Given the description of an element on the screen output the (x, y) to click on. 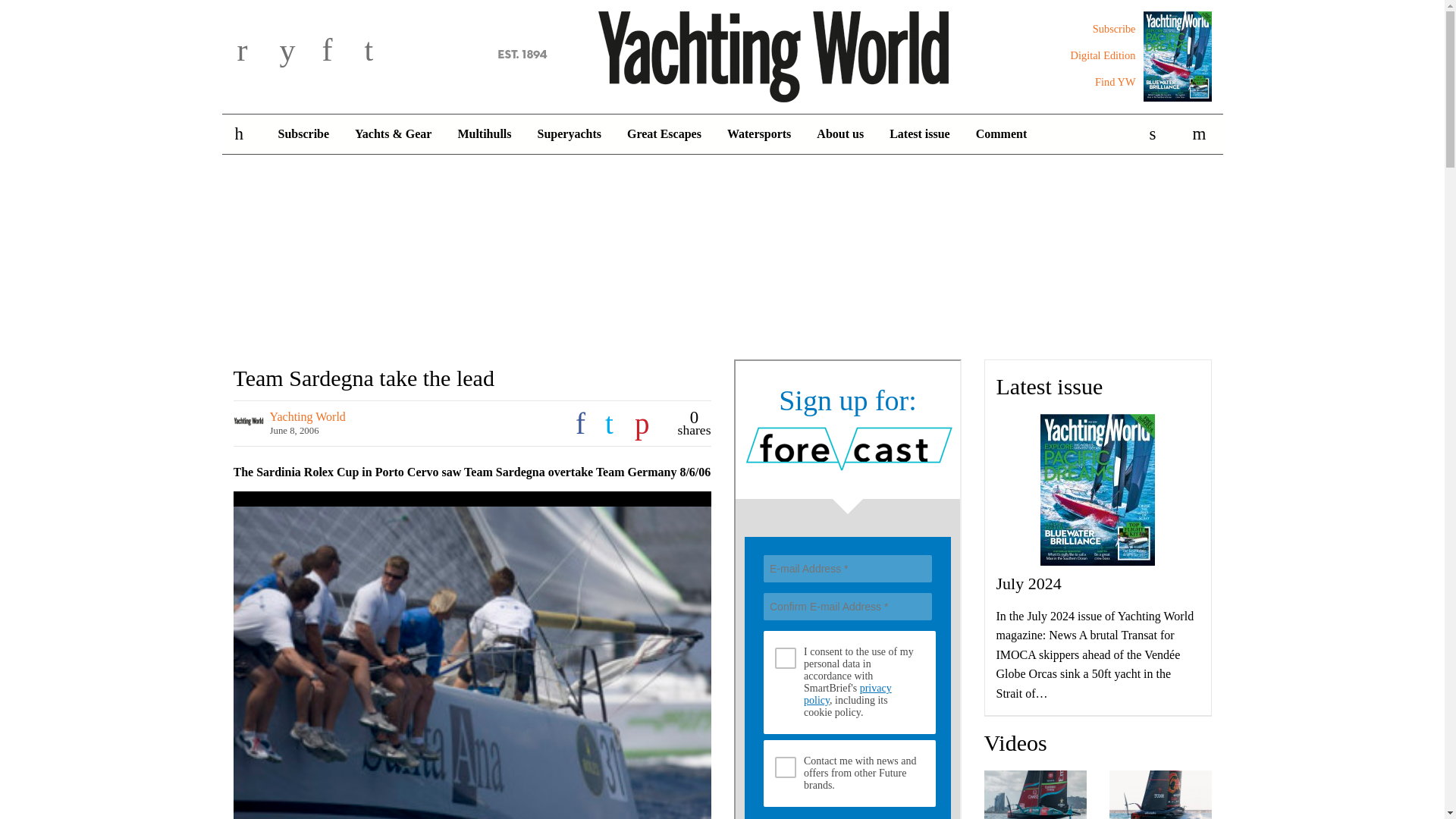
Digital Edition (1102, 55)
Digital Edition (1102, 55)
Superyachts (569, 133)
Find YW (1114, 81)
Subscribe (303, 133)
r (254, 52)
Yachting World (721, 53)
Yachting World (721, 53)
Multihulls (484, 133)
Find YW (1114, 81)
Yachting World's Profile (307, 416)
Subscribe (1114, 28)
t (382, 52)
f (339, 52)
y (297, 52)
